Given the description of an element on the screen output the (x, y) to click on. 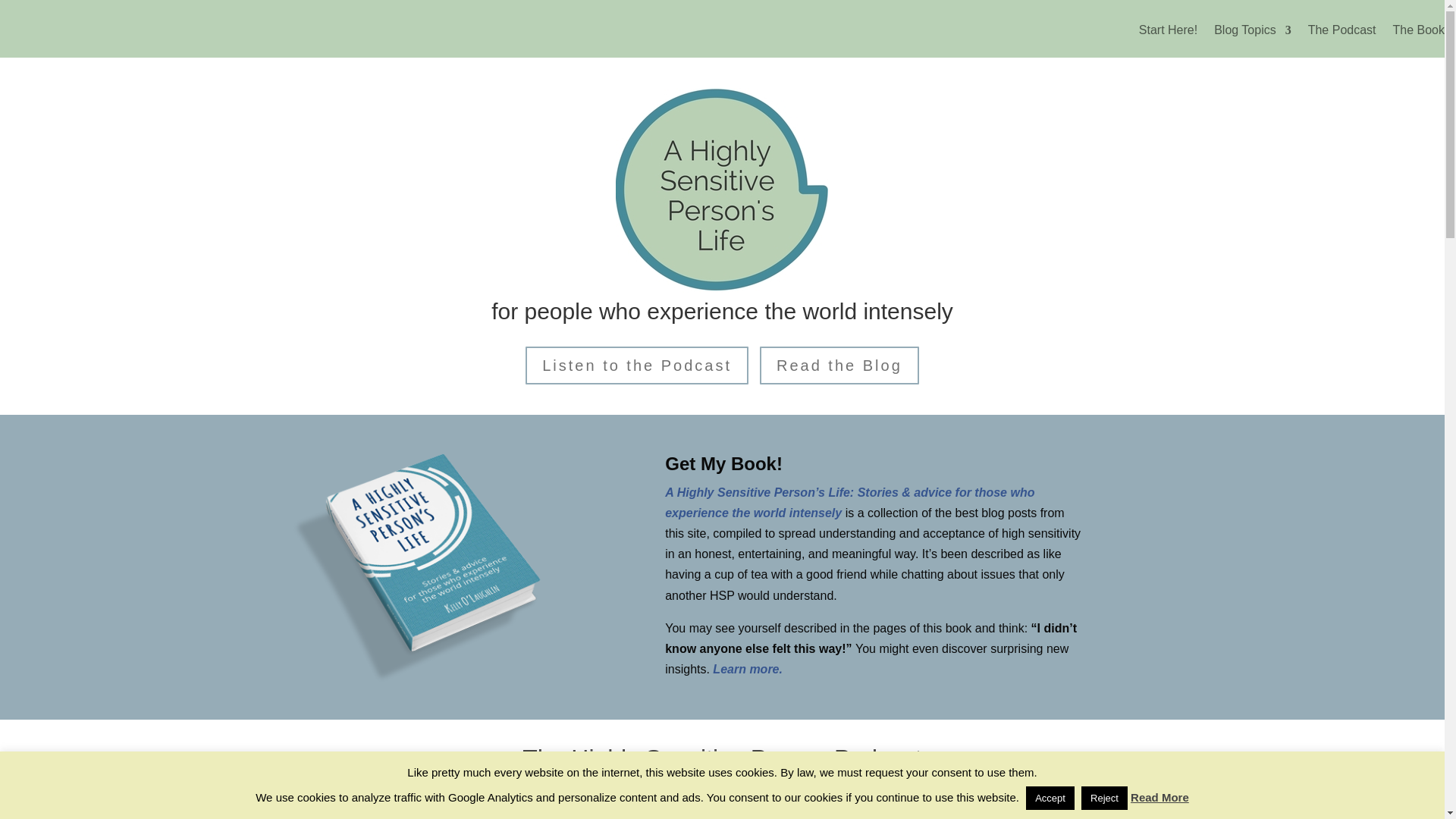
A Highly Sensitive Person's Life (419, 564)
Blog Topics (1252, 41)
Start Here! (1167, 41)
